Given the description of an element on the screen output the (x, y) to click on. 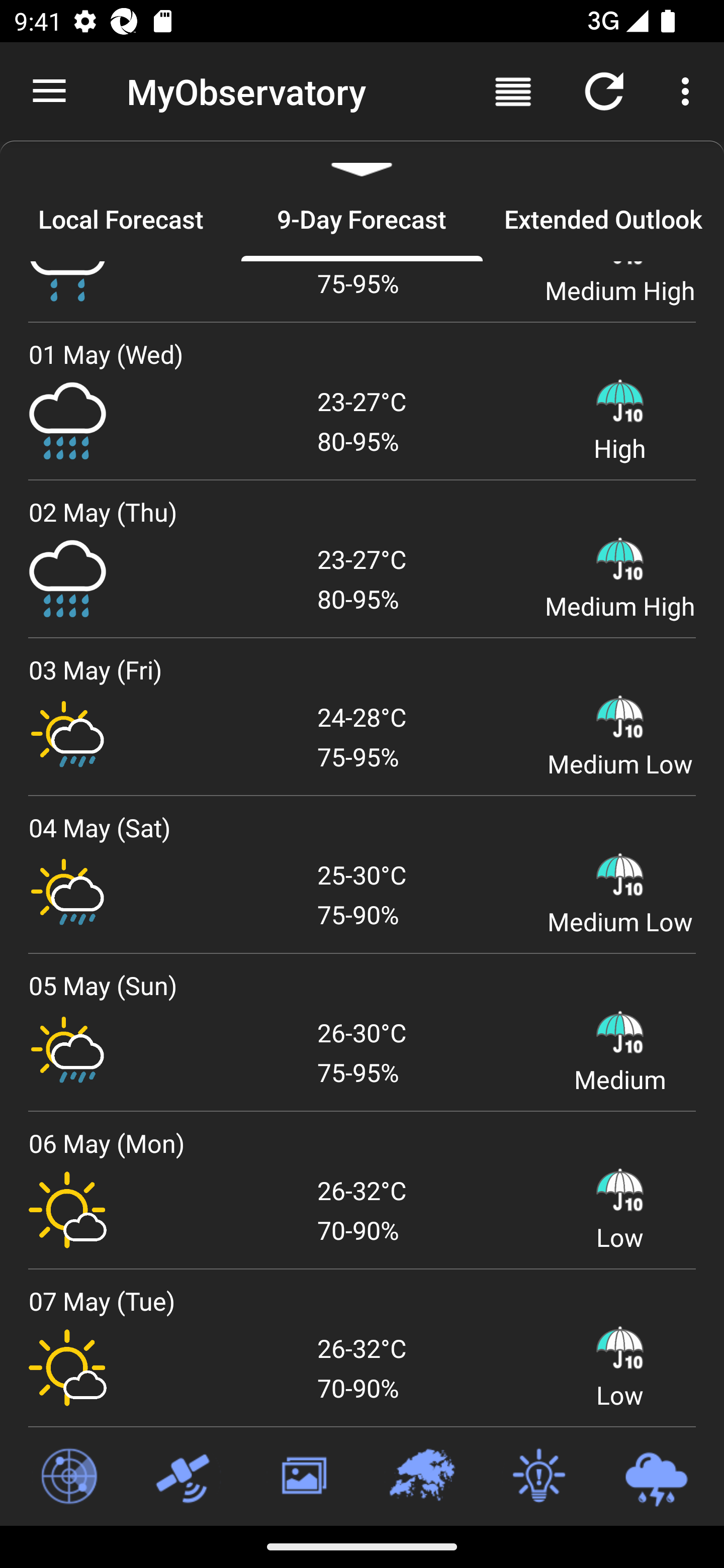
Navigate up (49, 91)
Vertical layout (512, 90)
Refresh (604, 90)
More options (688, 90)
Collapse (362, 159)
Local Forecast (120, 219)
Extended Outlook (603, 219)
Radar Images (68, 1476)
Satellite Images (185, 1476)
Weather Photos (302, 1476)
Regional Weather (420, 1476)
Weather Tips (537, 1476)
Loc-based Rain & Lightning Forecast (655, 1476)
